Given the description of an element on the screen output the (x, y) to click on. 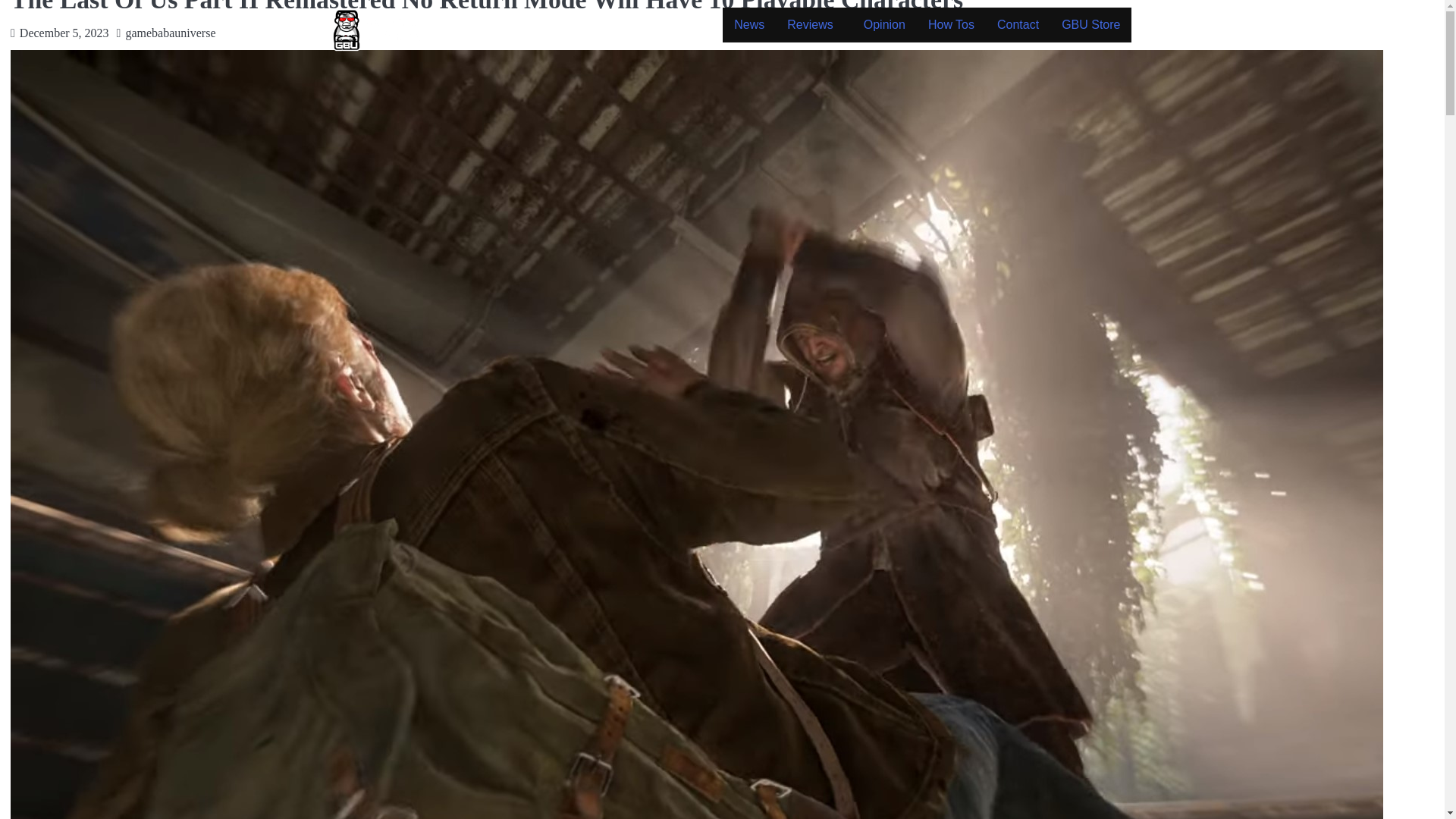
December 5, 2023 (64, 32)
Reviews (813, 24)
Contact (1017, 24)
Opinion (884, 24)
GBU Store (1090, 24)
News (749, 24)
gamebabauniverse (170, 32)
How Tos (951, 24)
